Given the description of an element on the screen output the (x, y) to click on. 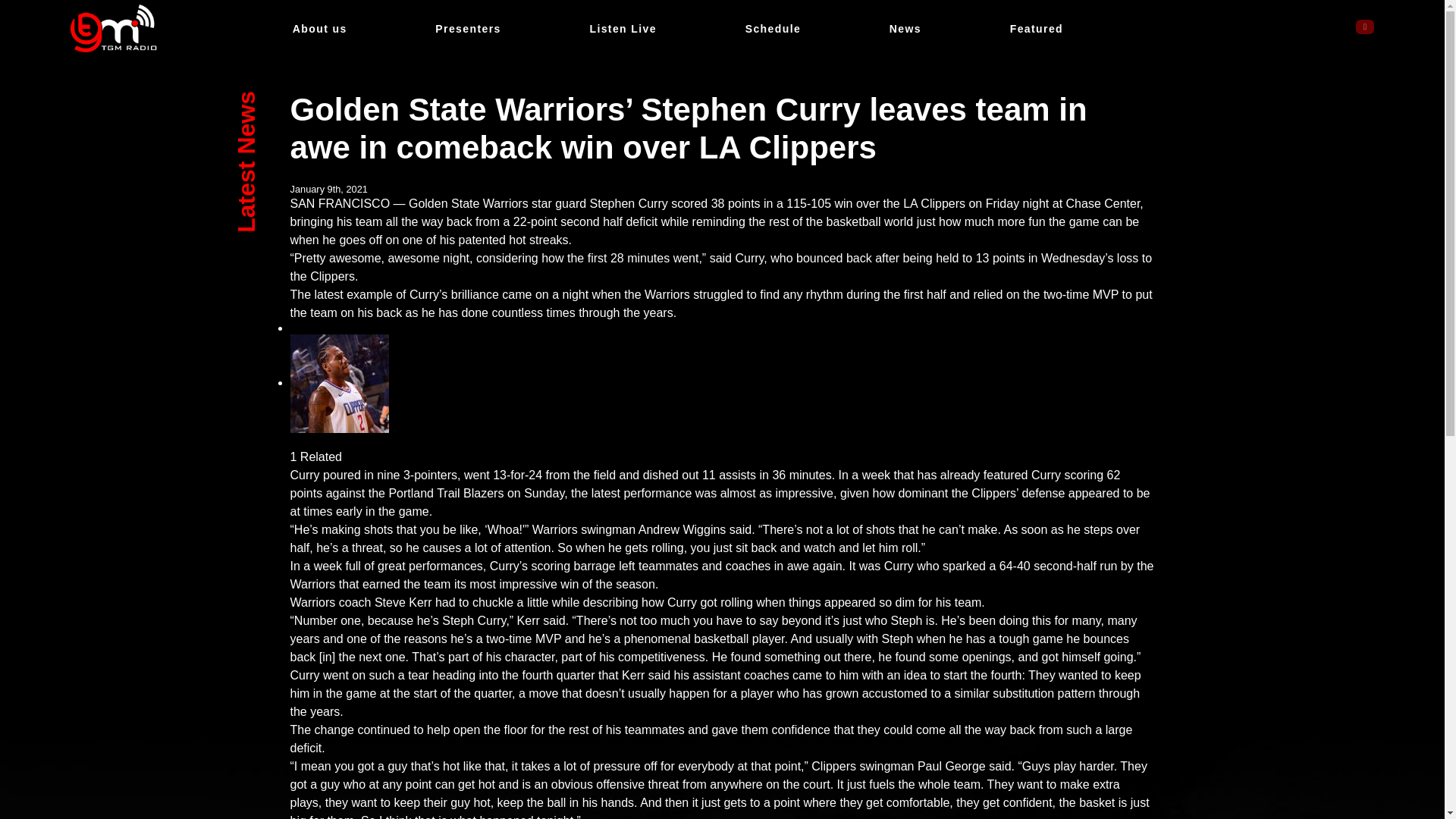
Presenters (467, 28)
115-105 win (818, 203)
Stephen Curry (628, 203)
Paul George (721, 28)
Listen Live (951, 766)
Andrew Wiggins (622, 28)
Portland Trail Blazers (682, 529)
About us (445, 492)
Golden State Warriors (319, 28)
Schedule (468, 203)
News (772, 28)
Featured (905, 28)
LA Clippers (1036, 28)
